Given the description of an element on the screen output the (x, y) to click on. 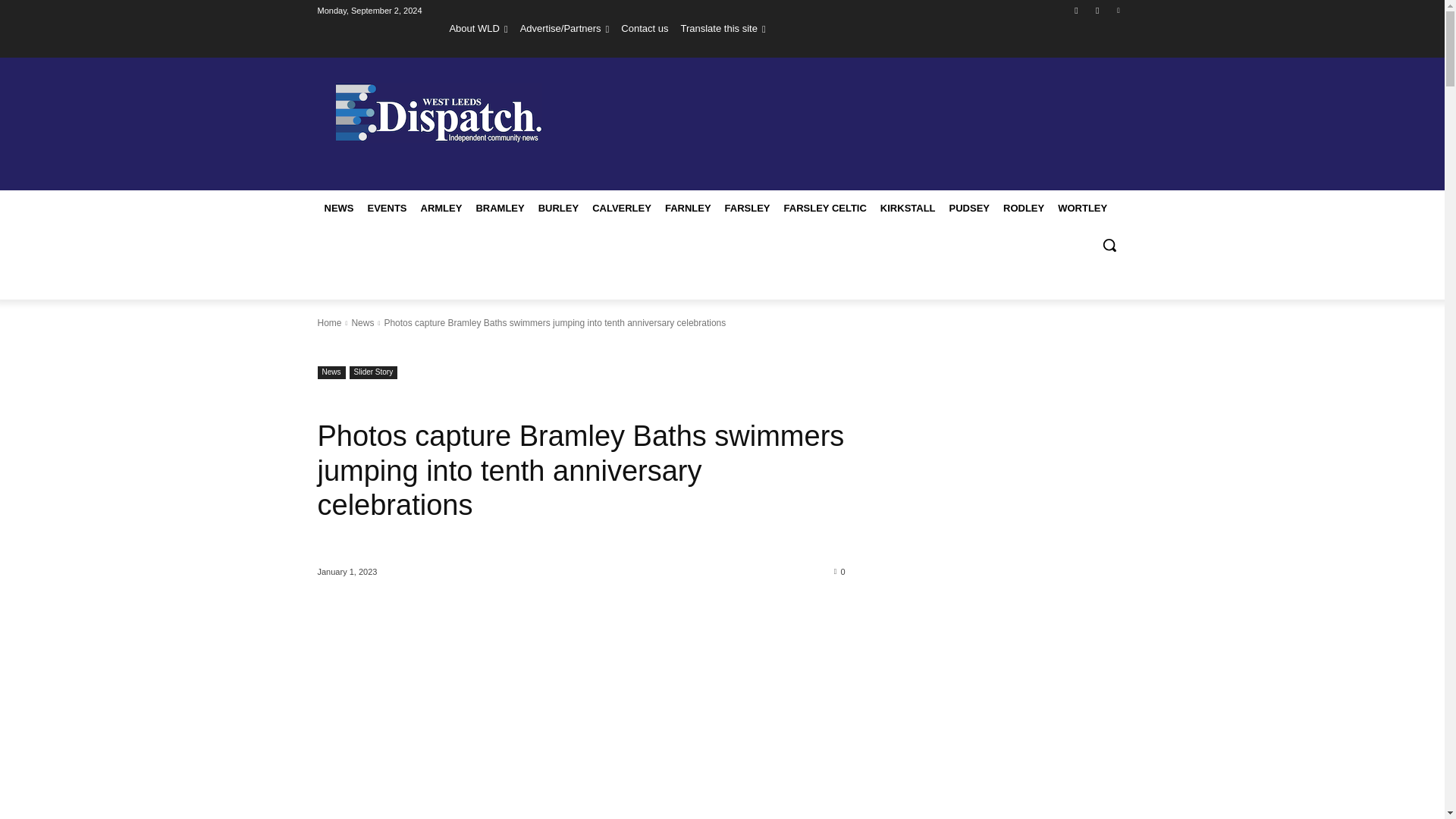
Contact us (644, 28)
About WLD (477, 28)
Translate this site (722, 28)
